Given the description of an element on the screen output the (x, y) to click on. 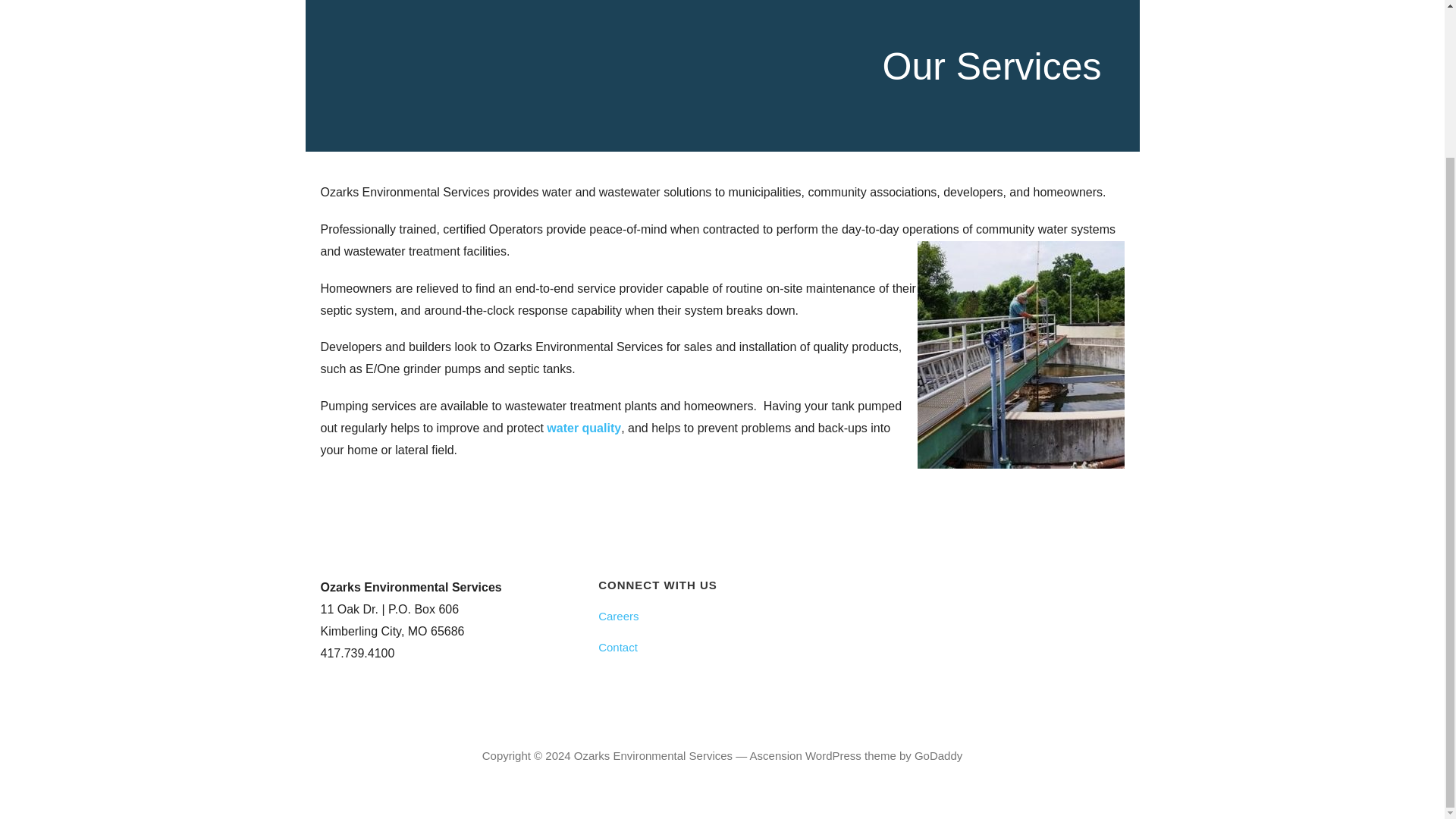
GoDaddy (938, 755)
Careers (721, 615)
Contact (721, 646)
water quality (584, 427)
